Given the description of an element on the screen output the (x, y) to click on. 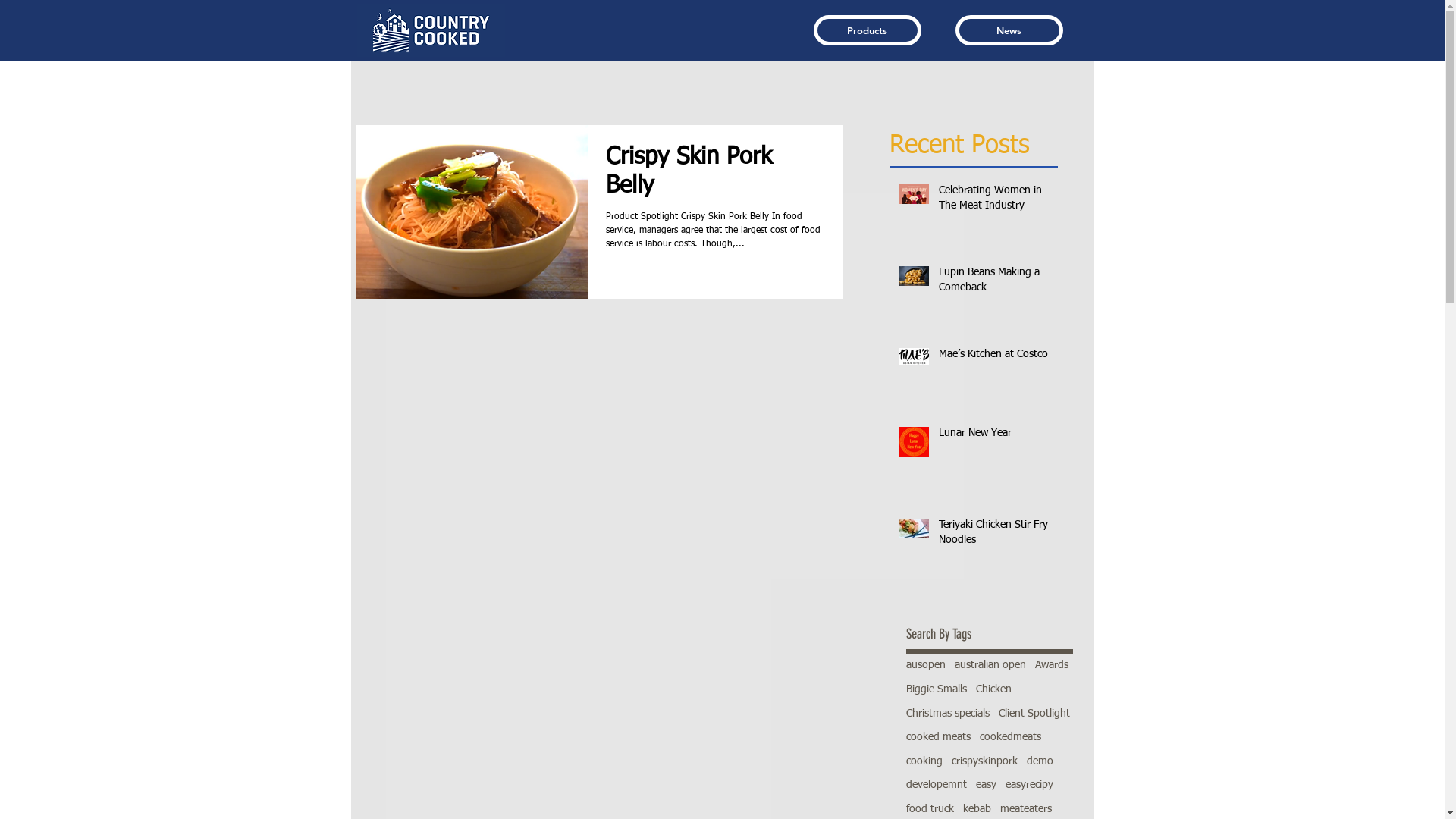
Awards Element type: text (1050, 665)
cooking Element type: text (923, 761)
Celebrating Women in The Meat Industry Element type: text (993, 201)
Chicken Element type: text (992, 689)
News Element type: text (1009, 30)
cooked meats Element type: text (937, 737)
Crispy Skin Pork Belly Element type: text (714, 176)
kebab Element type: text (977, 809)
easyrecipy Element type: text (1029, 785)
Products Element type: text (866, 30)
easy Element type: text (985, 785)
Christmas specials Element type: text (946, 713)
Biggie Smalls Element type: text (935, 689)
Lupin Beans Making a Comeback Element type: text (993, 283)
developemnt Element type: text (935, 785)
australian open Element type: text (989, 665)
Client Spotlight Element type: text (1033, 713)
crispyskinpork Element type: text (983, 761)
Teriyaki Chicken Stir Fry Noodles Element type: text (993, 535)
meateaters Element type: text (1025, 809)
cookedmeats Element type: text (1010, 737)
ausopen Element type: text (924, 665)
demo Element type: text (1039, 761)
Lunar New Year Element type: text (993, 436)
food truck Element type: text (929, 809)
